Given the description of an element on the screen output the (x, y) to click on. 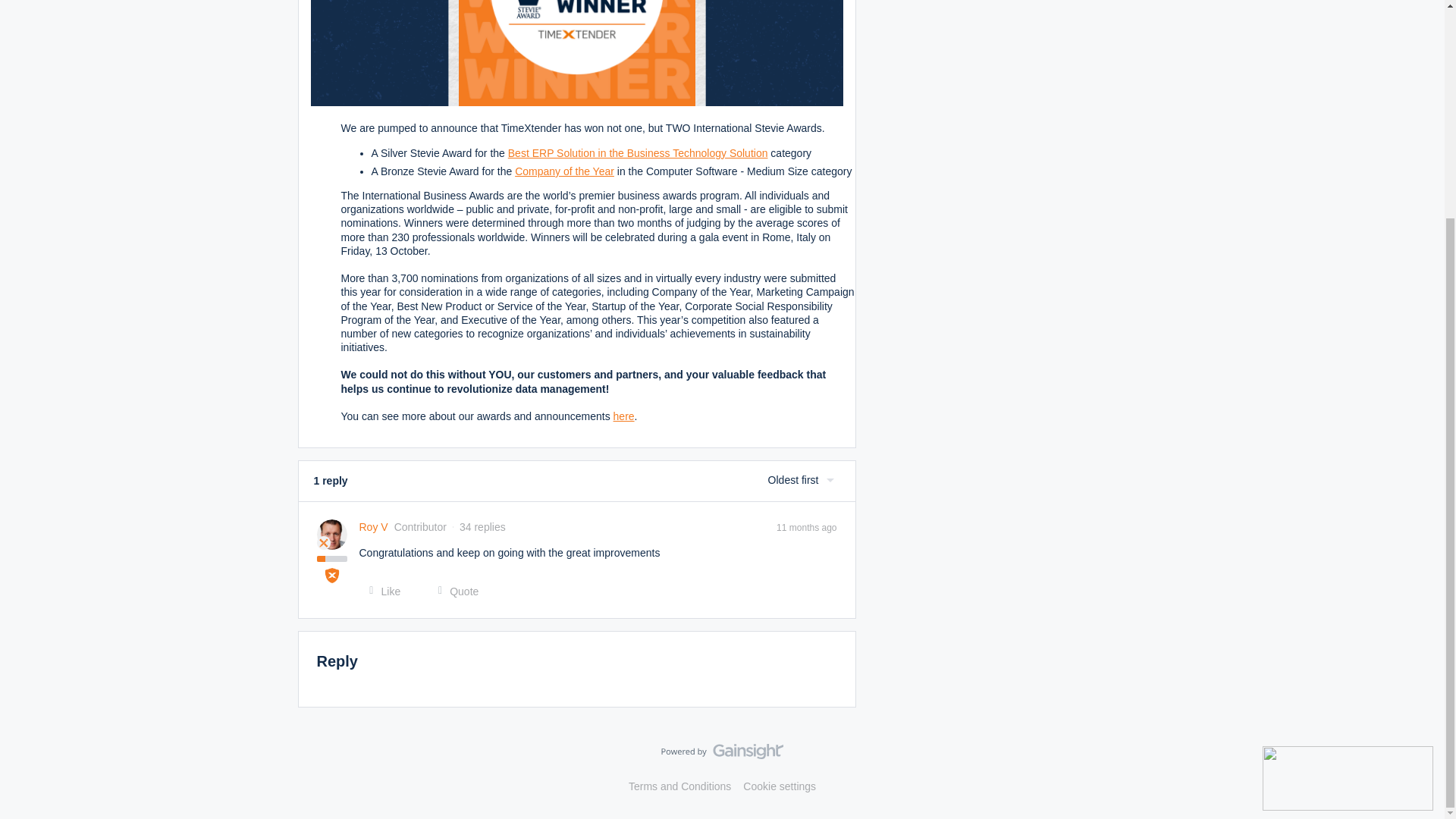
Certified Solutions Architect (331, 575)
here (623, 416)
Quote (453, 590)
Visit Gainsight.com (722, 754)
Cookie settings (779, 786)
Best ERP Solution in the Business Technology Solution (638, 152)
11 months ago (805, 526)
Roy V (373, 527)
Contributor (323, 542)
Terms and Conditions (679, 786)
